Given the description of an element on the screen output the (x, y) to click on. 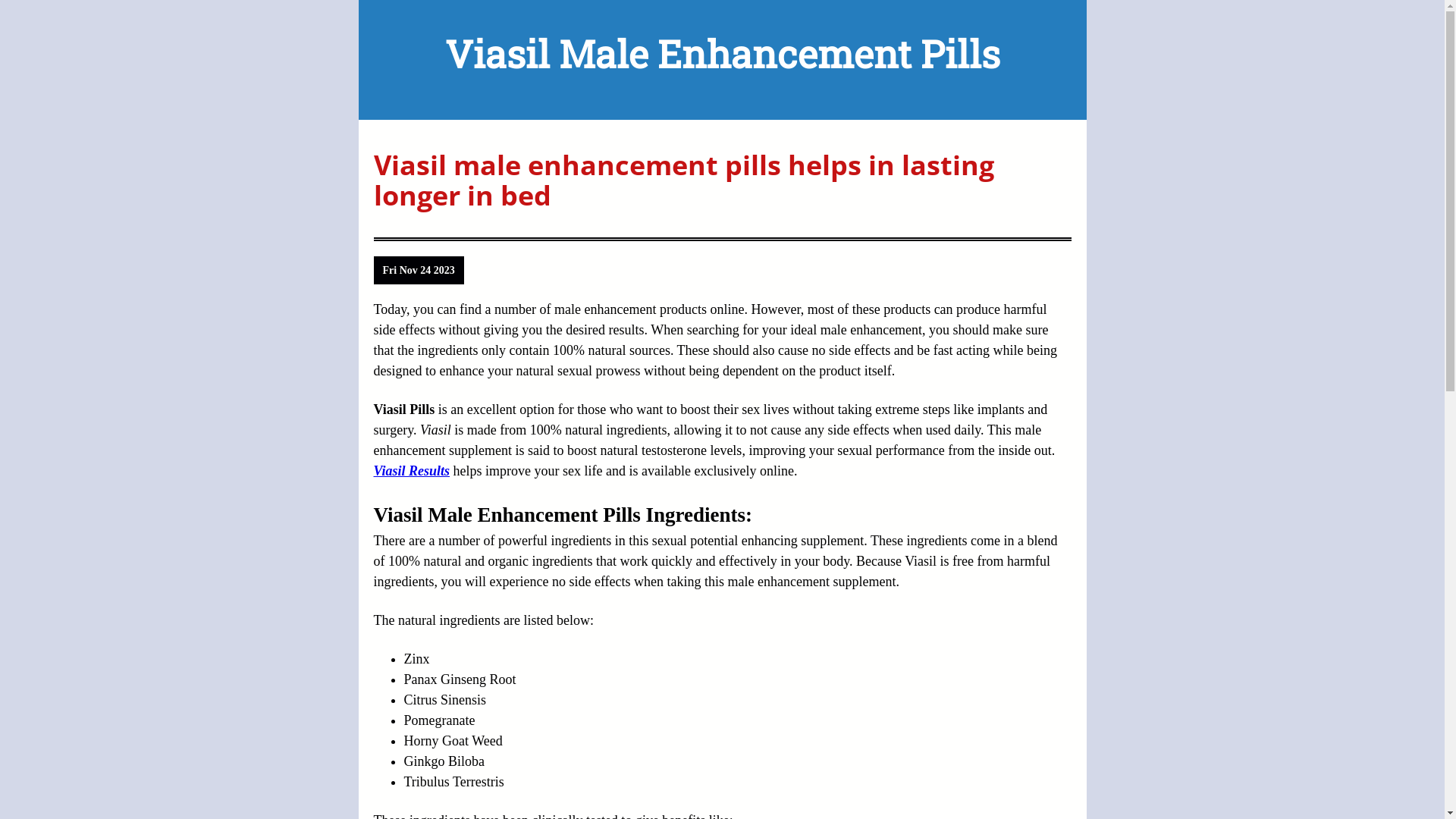
Viasil Results Element type: text (411, 470)
